Given the description of an element on the screen output the (x, y) to click on. 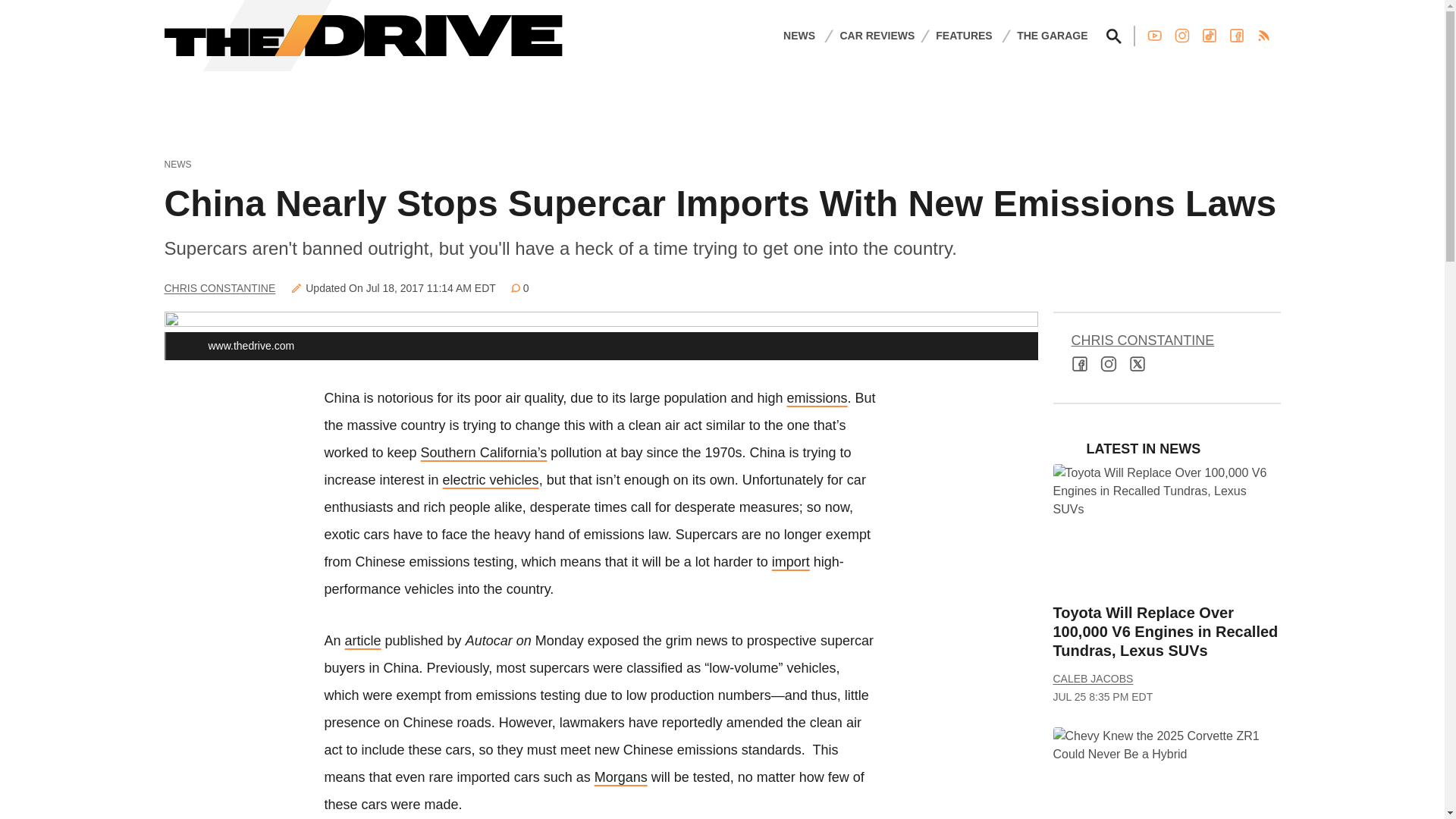
NEWS (799, 34)
